Given the description of an element on the screen output the (x, y) to click on. 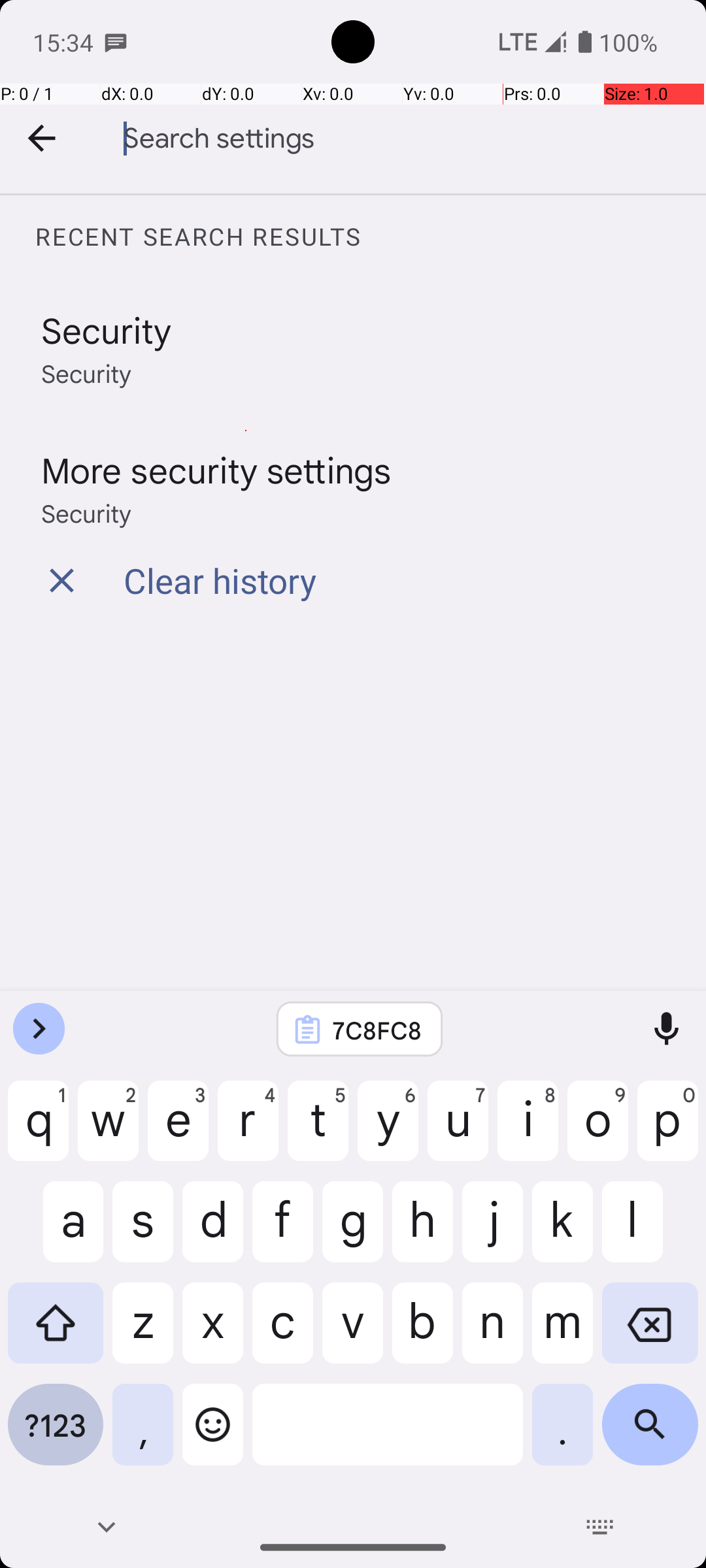
RECENT SEARCH RESULTS Element type: android.widget.TextView (370, 236)
Security Element type: android.widget.TextView (106, 329)
More security settings Element type: android.widget.TextView (216, 468)
Clear history Element type: android.widget.TextView (219, 580)
7C8FC8 Element type: android.widget.TextView (376, 1029)
